Given the description of an element on the screen output the (x, y) to click on. 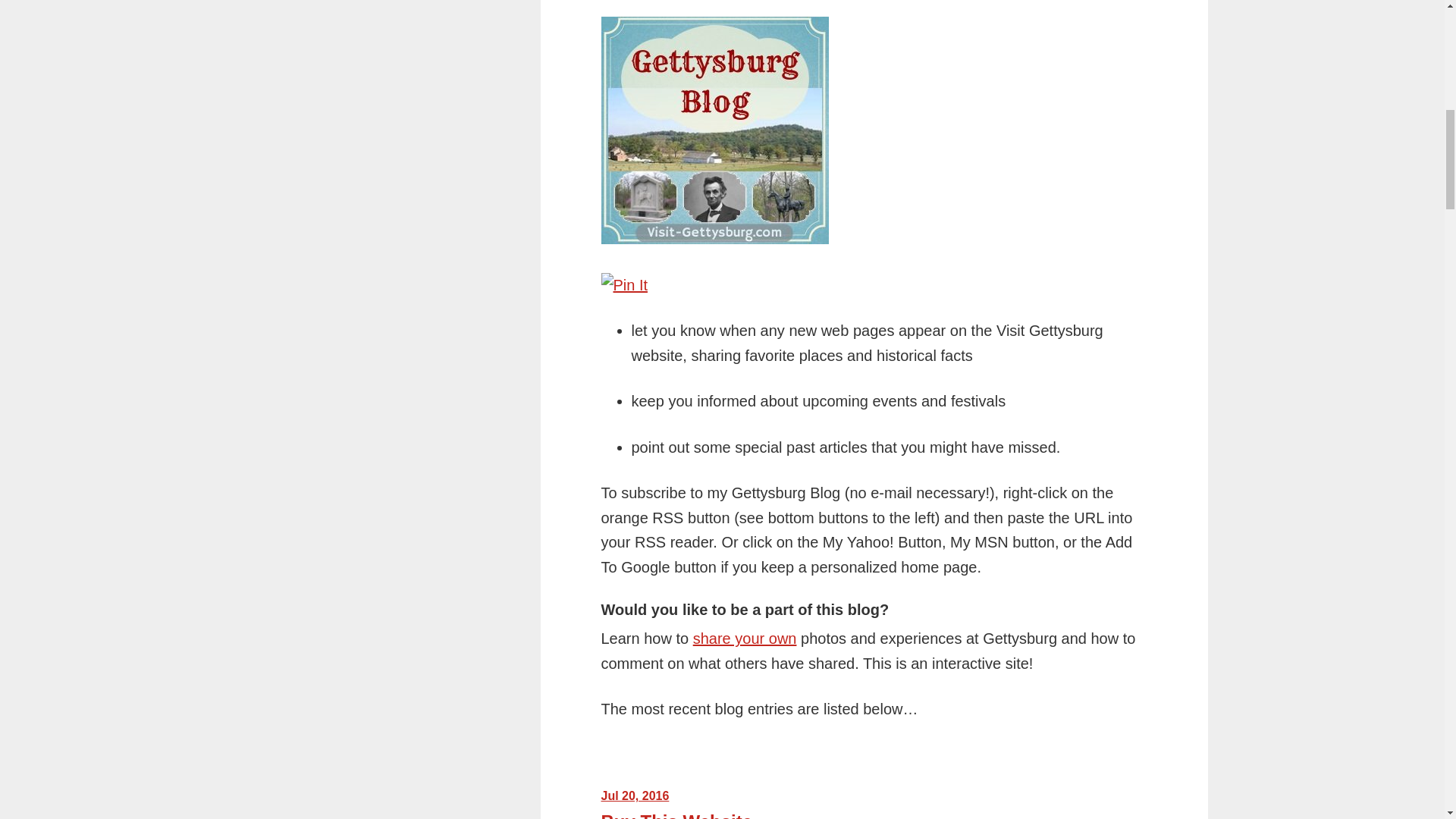
share your own (744, 638)
Advertisement (873, 803)
